Given the description of an element on the screen output the (x, y) to click on. 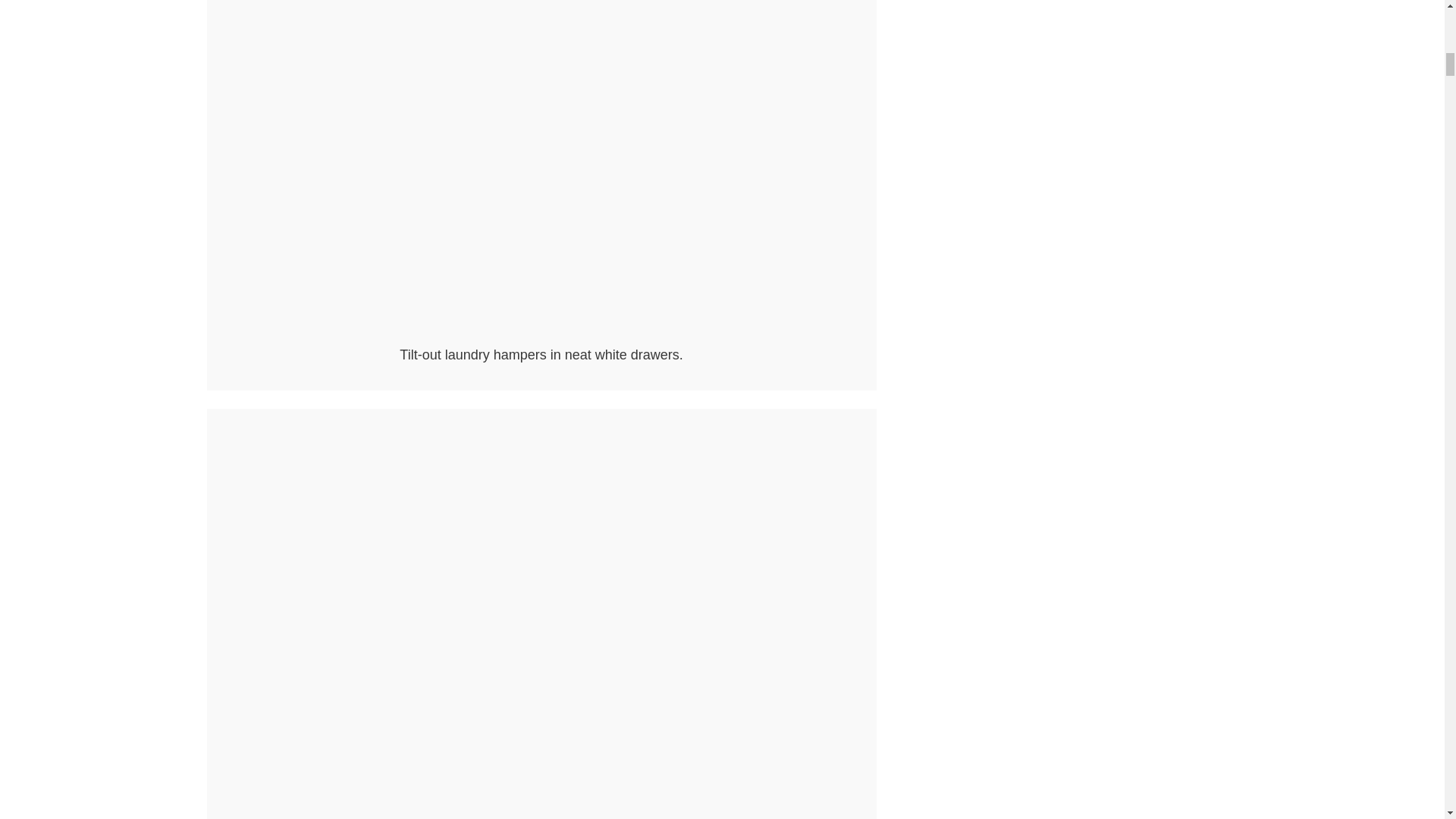
tilt out laundry hampers in neat white drawers (541, 335)
